Given the description of an element on the screen output the (x, y) to click on. 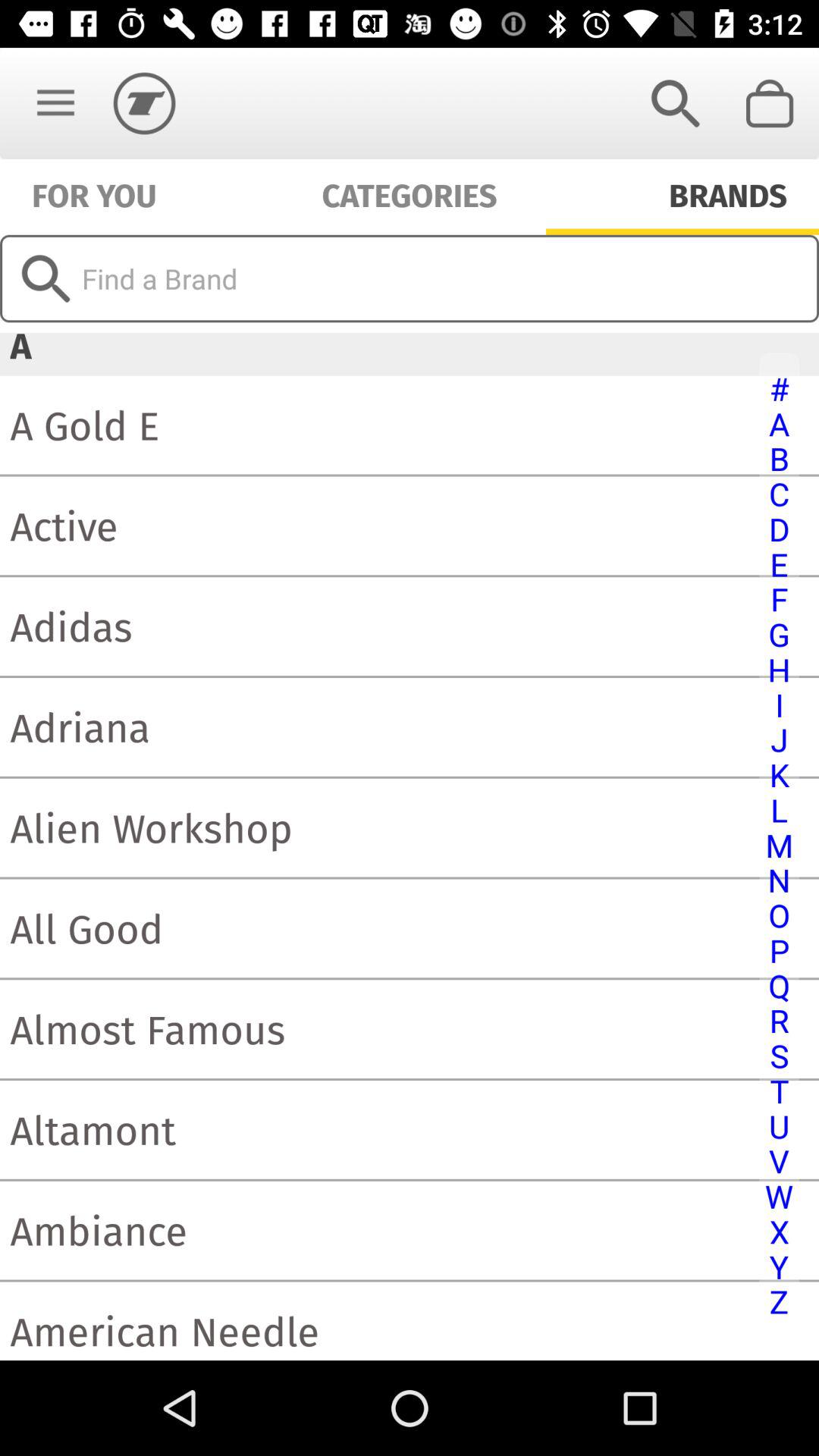
open item above the brands icon (771, 103)
